Given the description of an element on the screen output the (x, y) to click on. 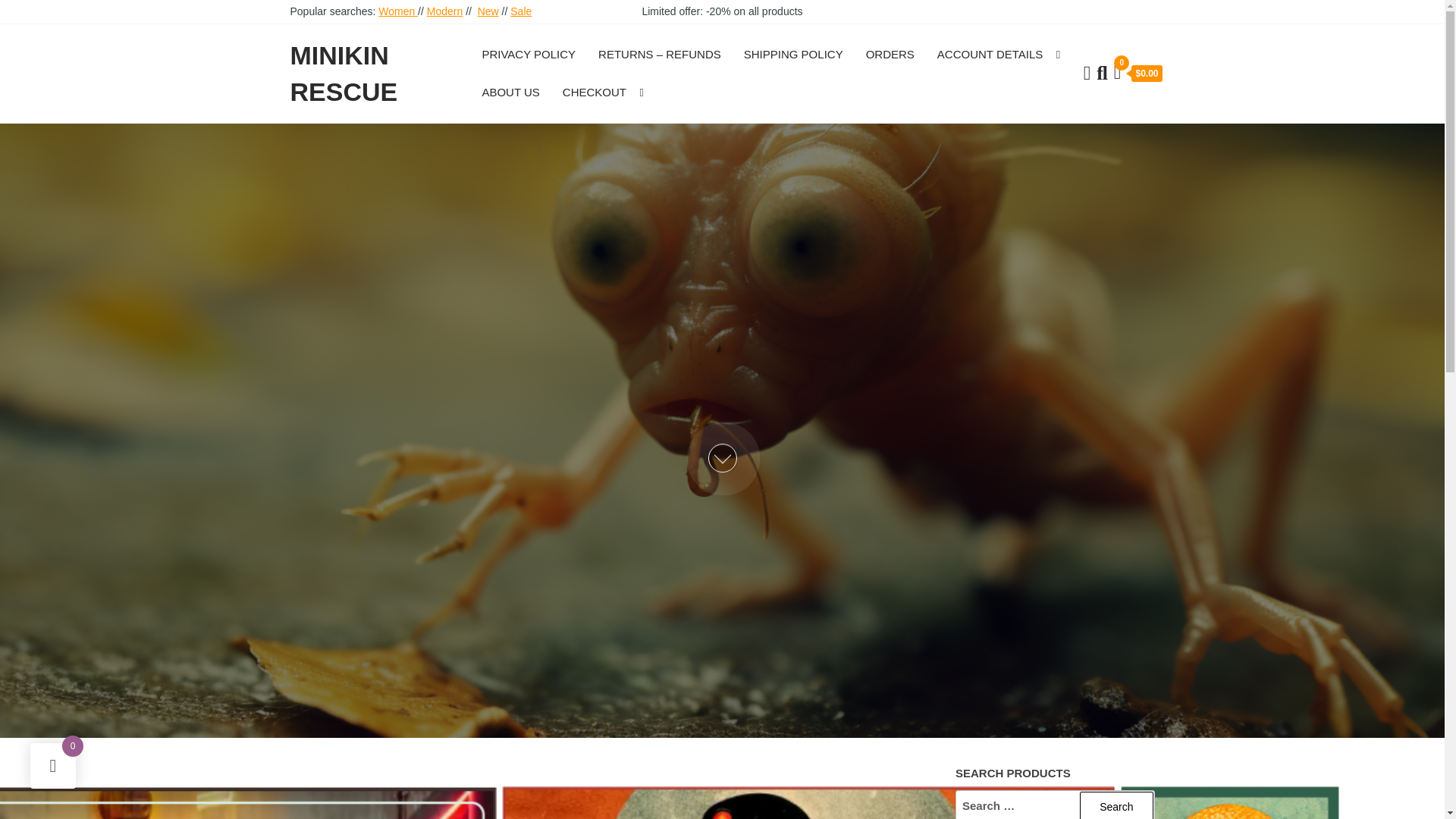
About us (510, 92)
MINIKIN RESCUE (343, 73)
ORDERS (890, 54)
Privacy policy (528, 54)
SHIPPING POLICY (793, 54)
CHECKOUT (598, 92)
Search (1116, 805)
Women (397, 10)
Search (1116, 805)
Sale (521, 10)
